Given the description of an element on the screen output the (x, y) to click on. 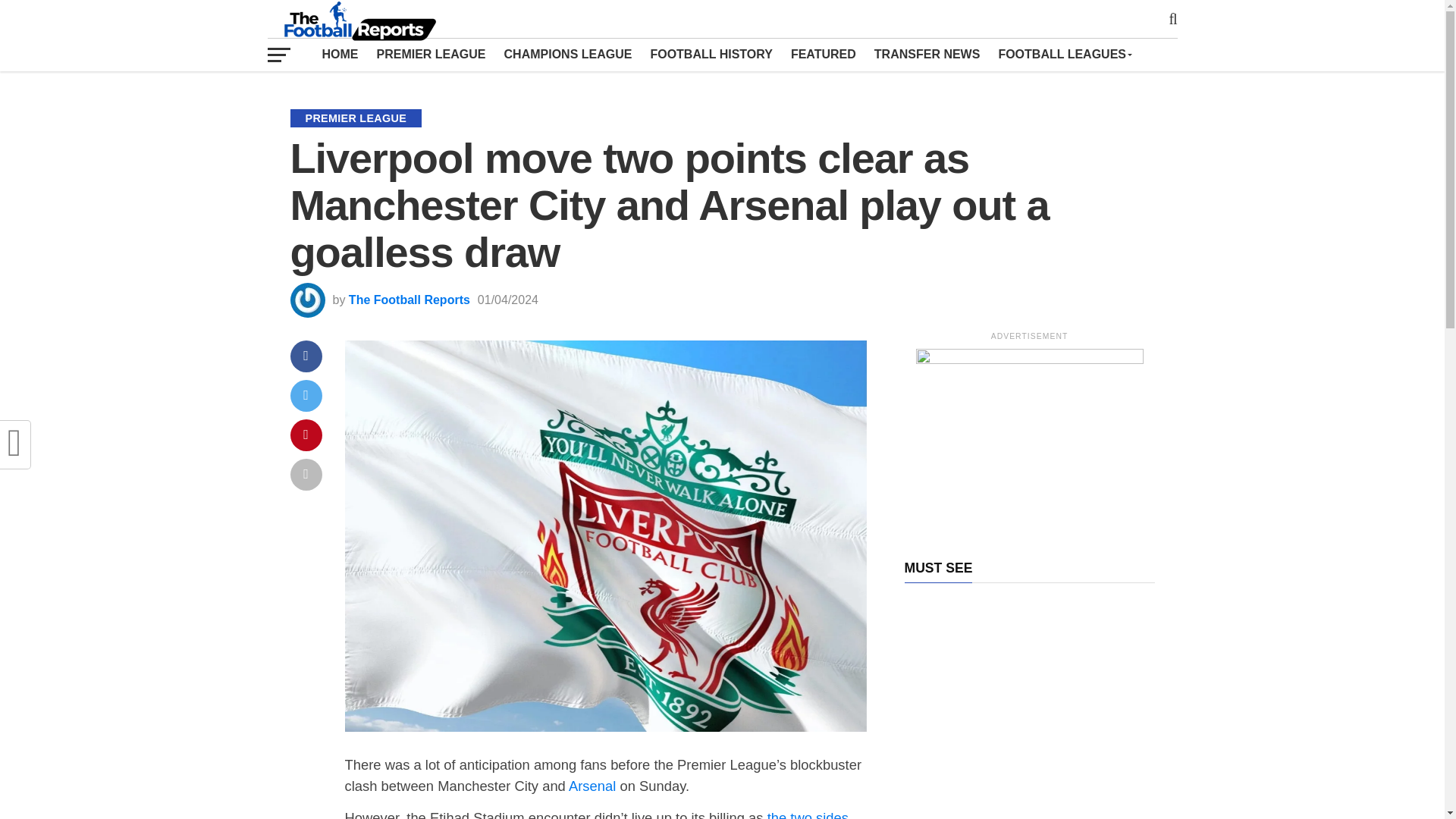
TRANSFER NEWS (927, 54)
FOOTBALL HISTORY (710, 54)
PREMIER LEAGUE (430, 54)
Posts by The Football Reports (409, 299)
CHAMPIONS LEAGUE (568, 54)
HOME (339, 54)
FEATURED (822, 54)
